Given the description of an element on the screen output the (x, y) to click on. 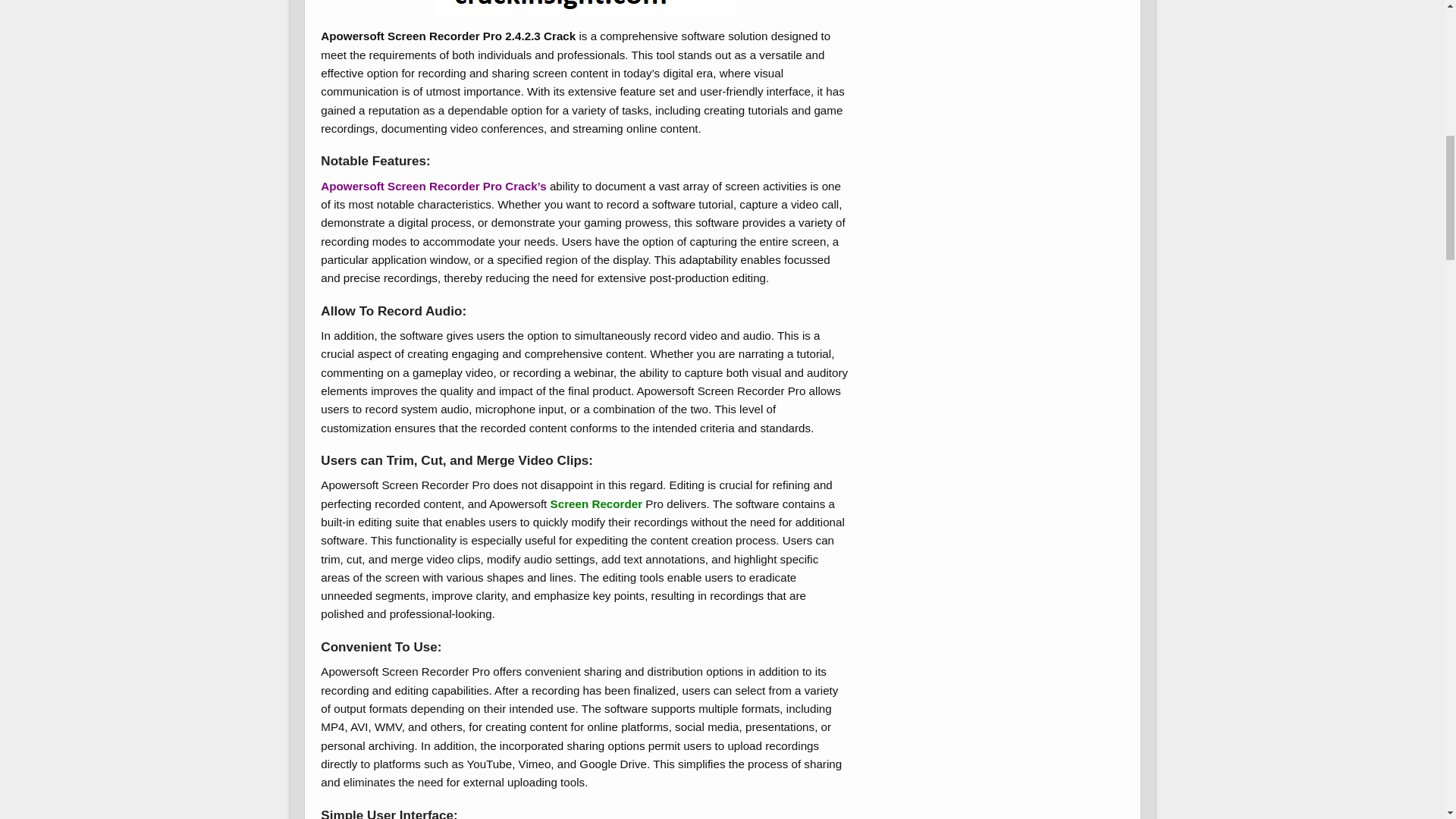
Screen Recorder (598, 503)
